Given the description of an element on the screen output the (x, y) to click on. 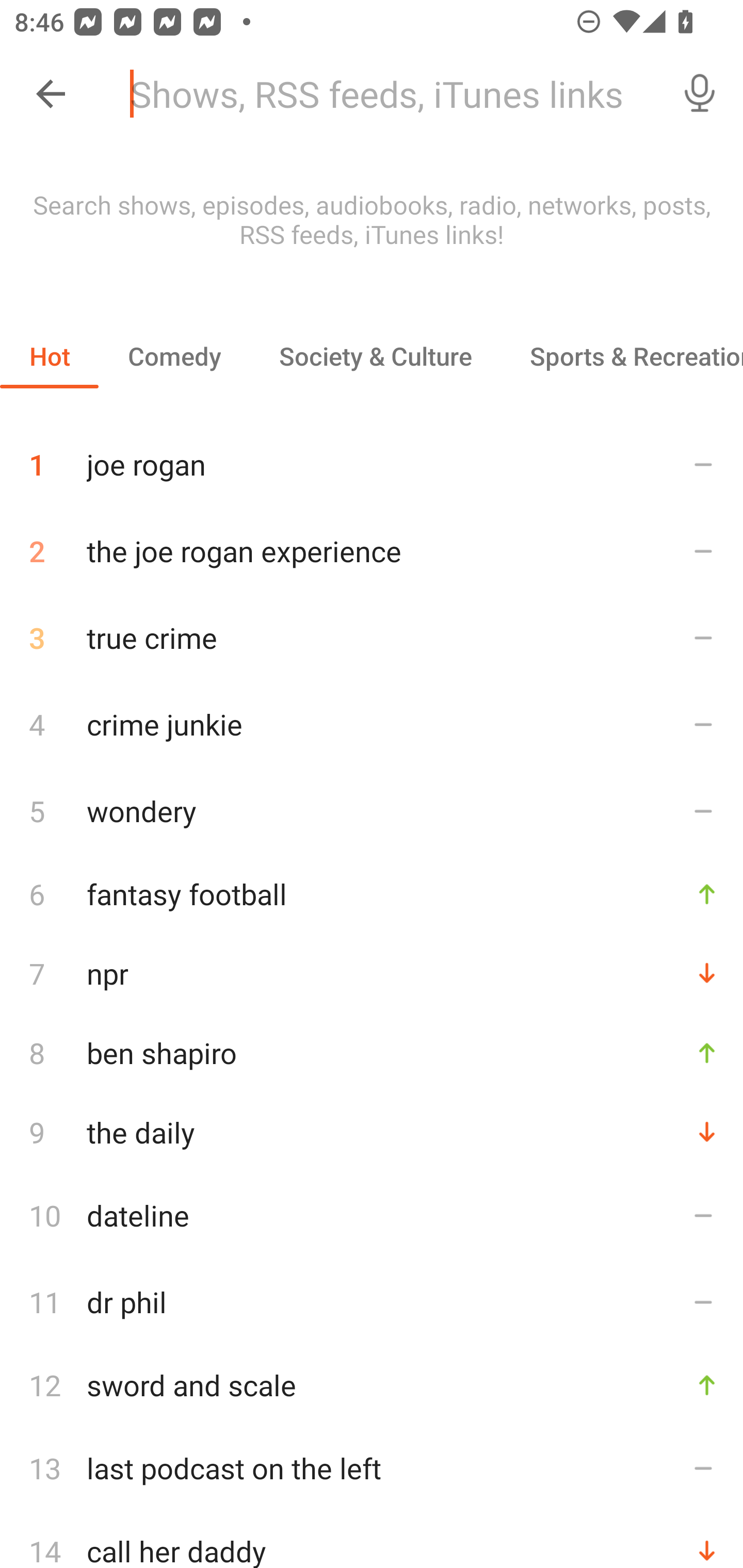
Collapse (50, 93)
Voice Search (699, 93)
Shows, RSS feeds, iTunes links (385, 94)
Hot (49, 355)
Comedy (173, 355)
Society & Culture (374, 355)
Sports & Recreation (621, 355)
1 joe rogan (371, 457)
2 the joe rogan experience (371, 551)
3 true crime (371, 637)
4 crime junkie (371, 723)
5 wondery (371, 810)
6 fantasy football (371, 893)
7 npr (371, 972)
8 ben shapiro (371, 1052)
9 the daily (371, 1131)
10 dateline (371, 1215)
11 dr phil (371, 1302)
12 sword and scale (371, 1385)
13 last podcast on the left (371, 1468)
14 call her daddy (371, 1539)
